Given the description of an element on the screen output the (x, y) to click on. 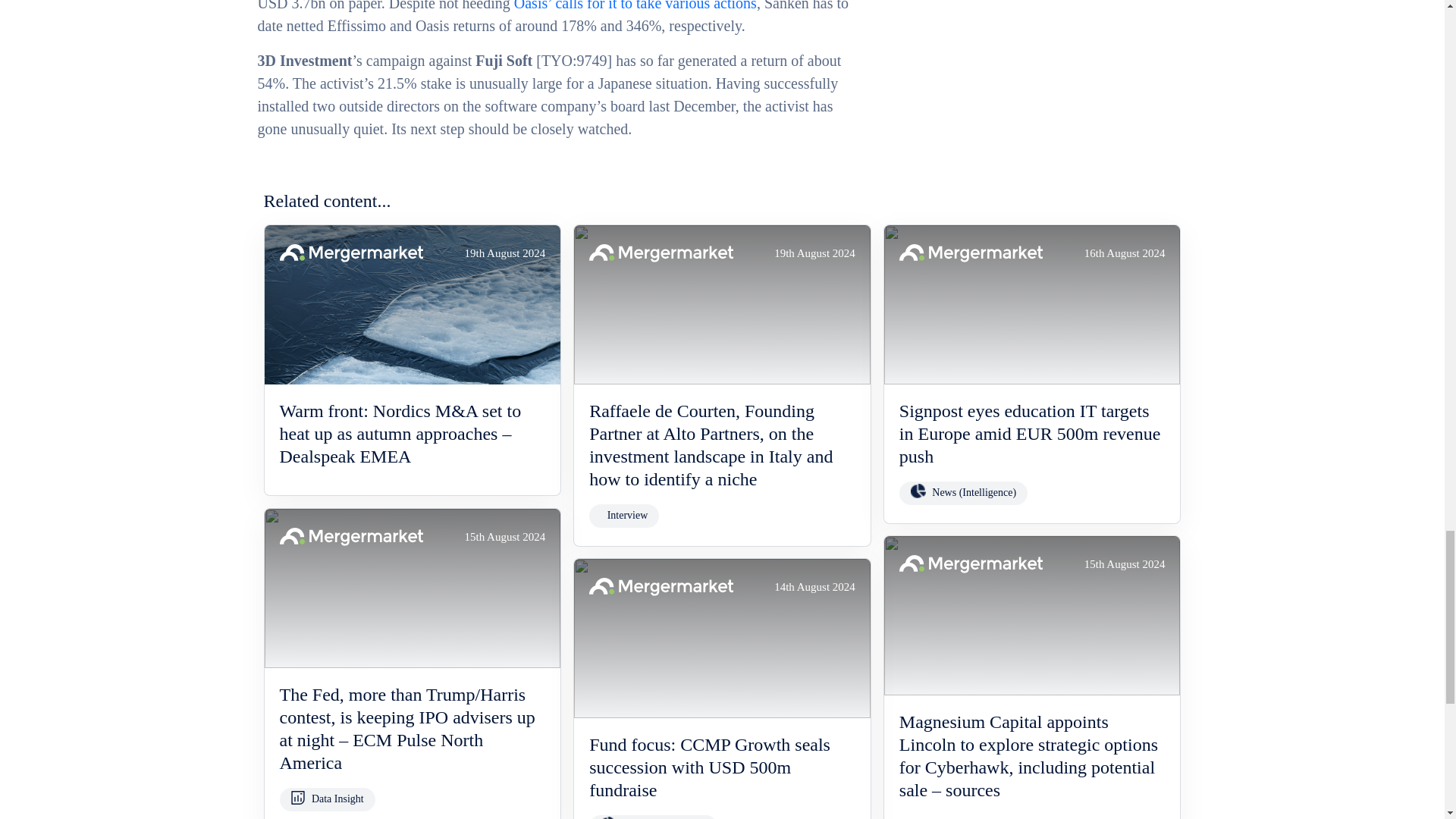
16th August 2024 (1031, 304)
19th August 2024 (411, 304)
Interview (623, 515)
19th August 2024 (721, 304)
